Given the description of an element on the screen output the (x, y) to click on. 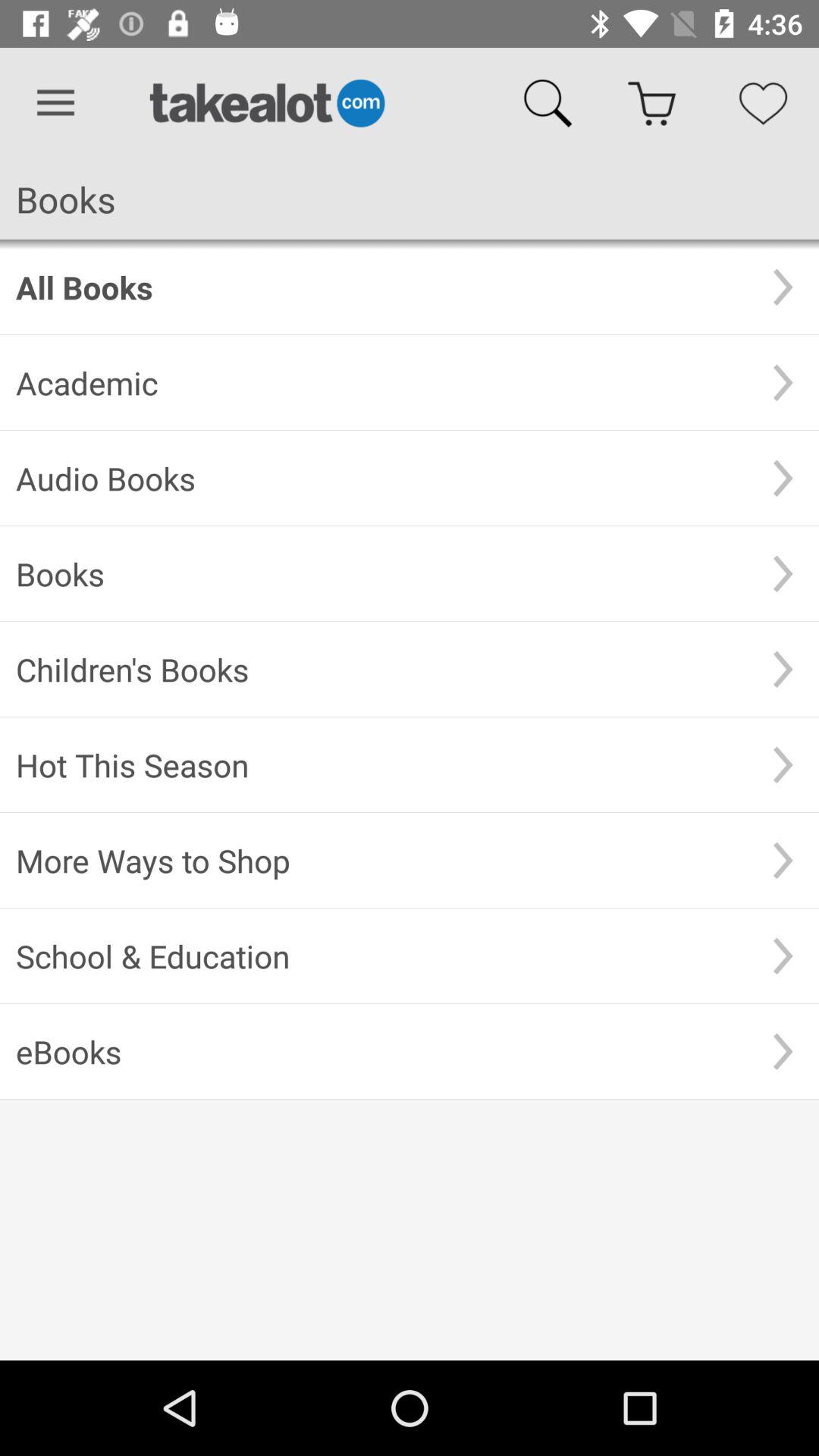
choose ebooks item (381, 1051)
